Given the description of an element on the screen output the (x, y) to click on. 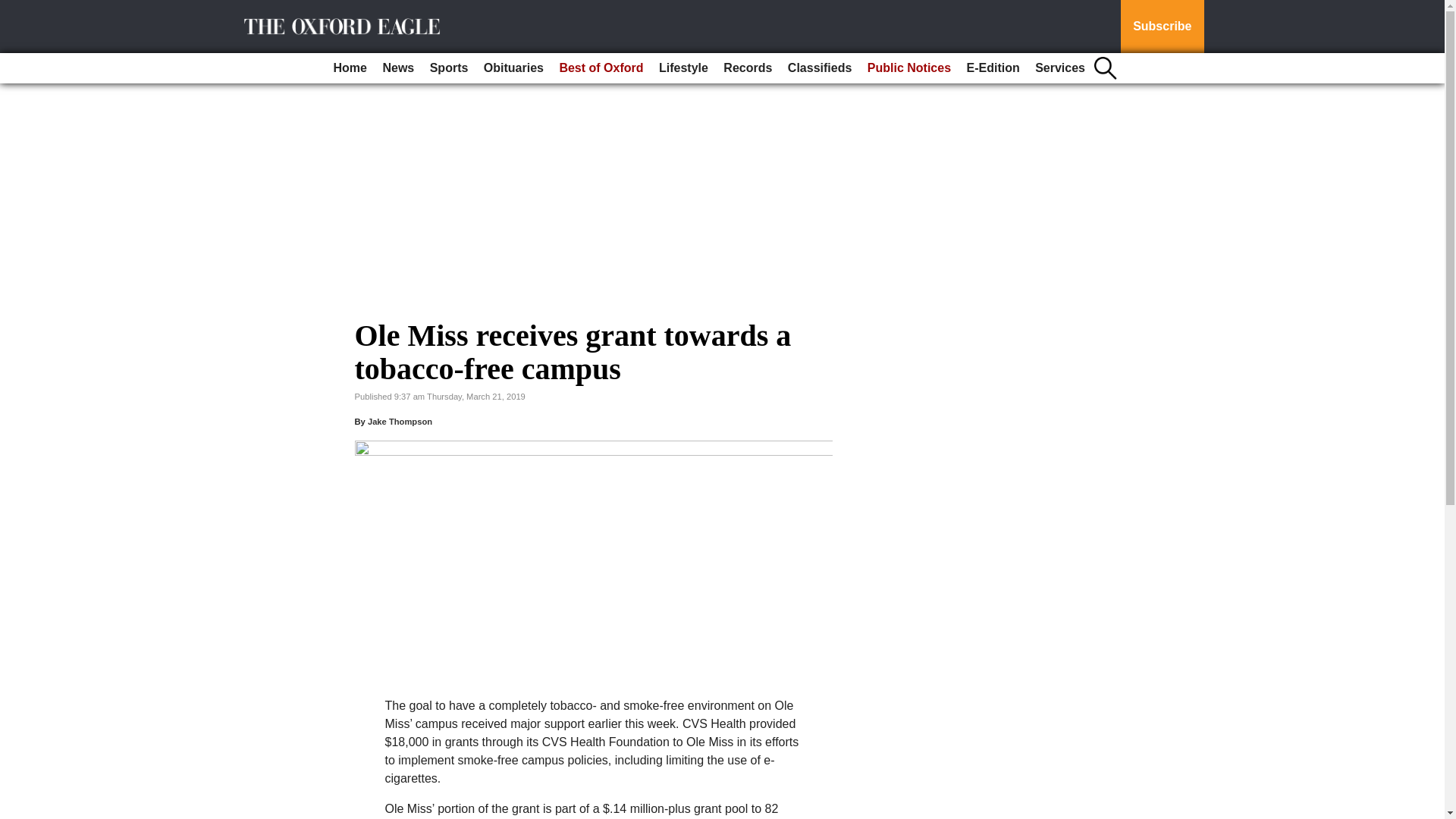
Best of Oxford (601, 68)
Records (747, 68)
Public Notices (908, 68)
Subscribe (1162, 26)
Home (349, 68)
E-Edition (992, 68)
Classifieds (819, 68)
Sports (448, 68)
Services (1059, 68)
News (397, 68)
